Given the description of an element on the screen output the (x, y) to click on. 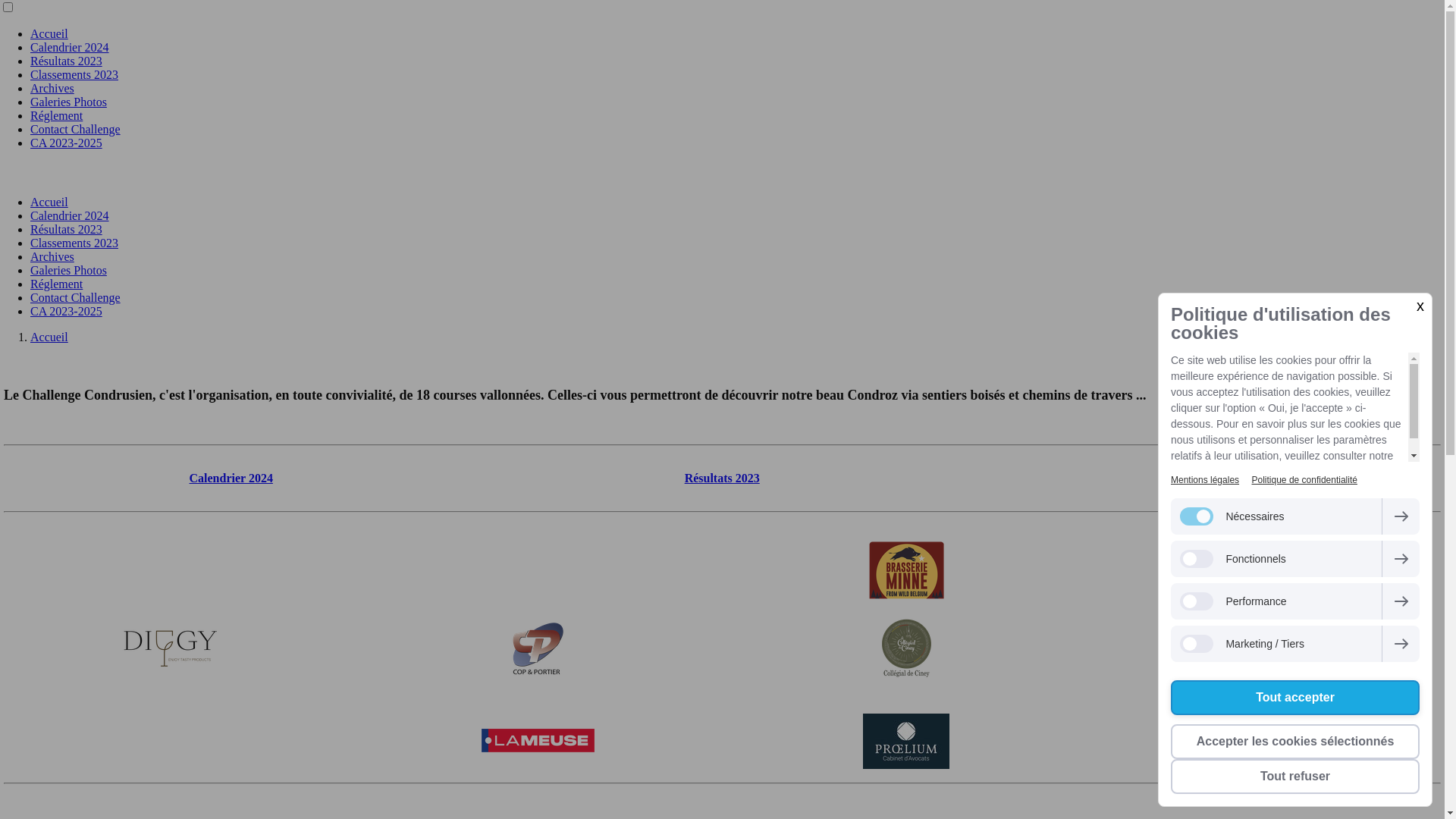
Contact Challenge Element type: text (75, 297)
Classements 2023 Element type: text (1212, 477)
Galeries Photos Element type: text (68, 101)
Archives Element type: text (52, 87)
Accueil Element type: text (49, 33)
Classements 2023 Element type: text (74, 74)
Calendrier 2024 Element type: text (69, 215)
Calendrier 2024 Element type: text (231, 477)
CA 2023-2025 Element type: text (66, 310)
Archives Element type: text (52, 256)
Classements 2023 Element type: text (74, 242)
Galeries Photos Element type: text (68, 269)
Accueil Element type: text (49, 201)
Contact Challenge Element type: text (75, 128)
Tout accepter Element type: text (1294, 697)
Calendrier 2024 Element type: text (69, 46)
Tout refuser Element type: text (1294, 776)
Accueil Element type: text (49, 336)
CA 2023-2025 Element type: text (66, 142)
